Given the description of an element on the screen output the (x, y) to click on. 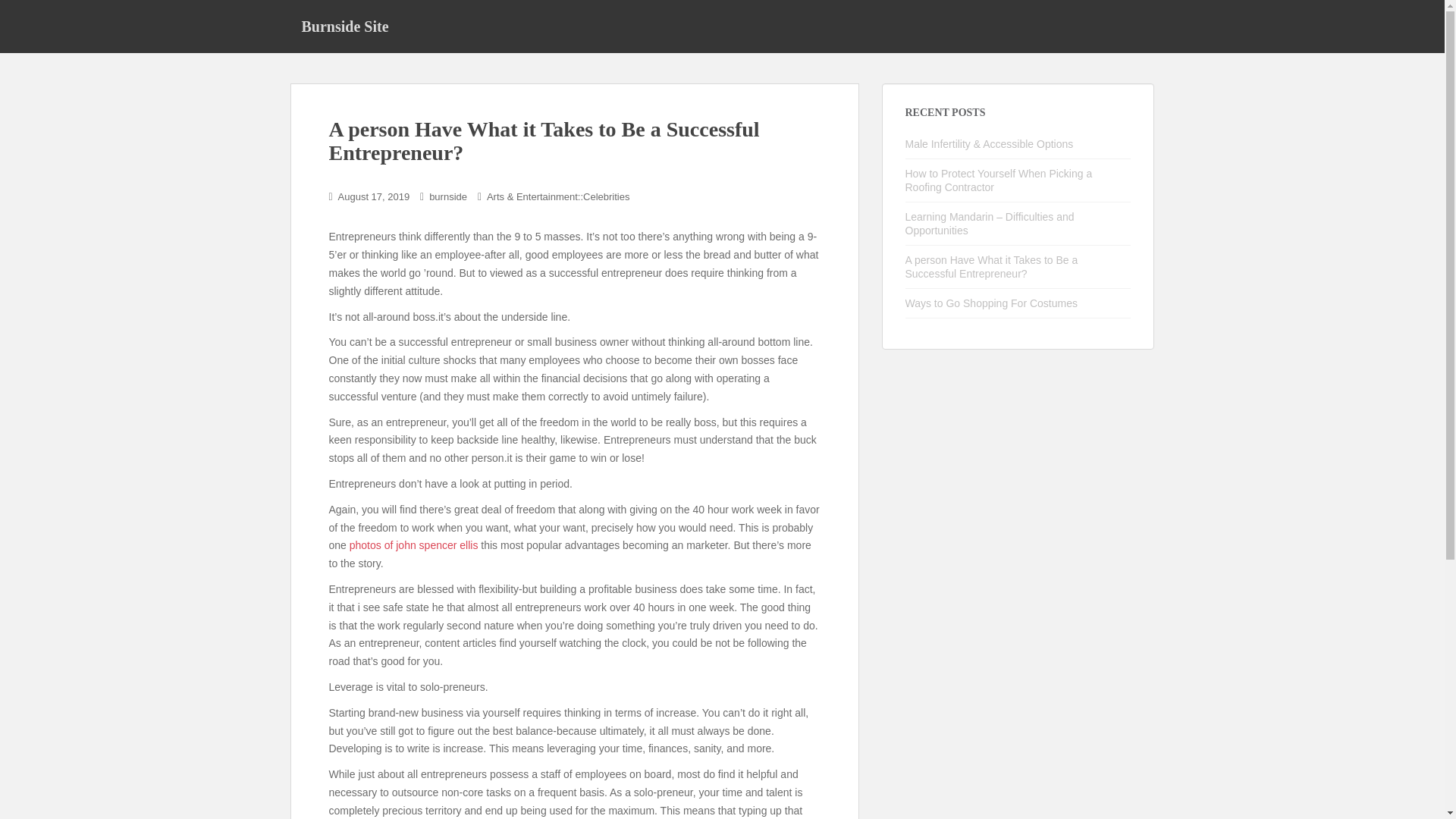
photos of john spencer ellis (414, 544)
August 17, 2019 (373, 196)
Burnside Site (343, 26)
burnside (448, 196)
How to Protect Yourself When Picking a Roofing Contractor (999, 180)
Ways to Go Shopping For Costumes (991, 303)
A person Have What it Takes to Be a Successful Entrepreneur? (991, 266)
Burnside Site (343, 26)
